Given the description of an element on the screen output the (x, y) to click on. 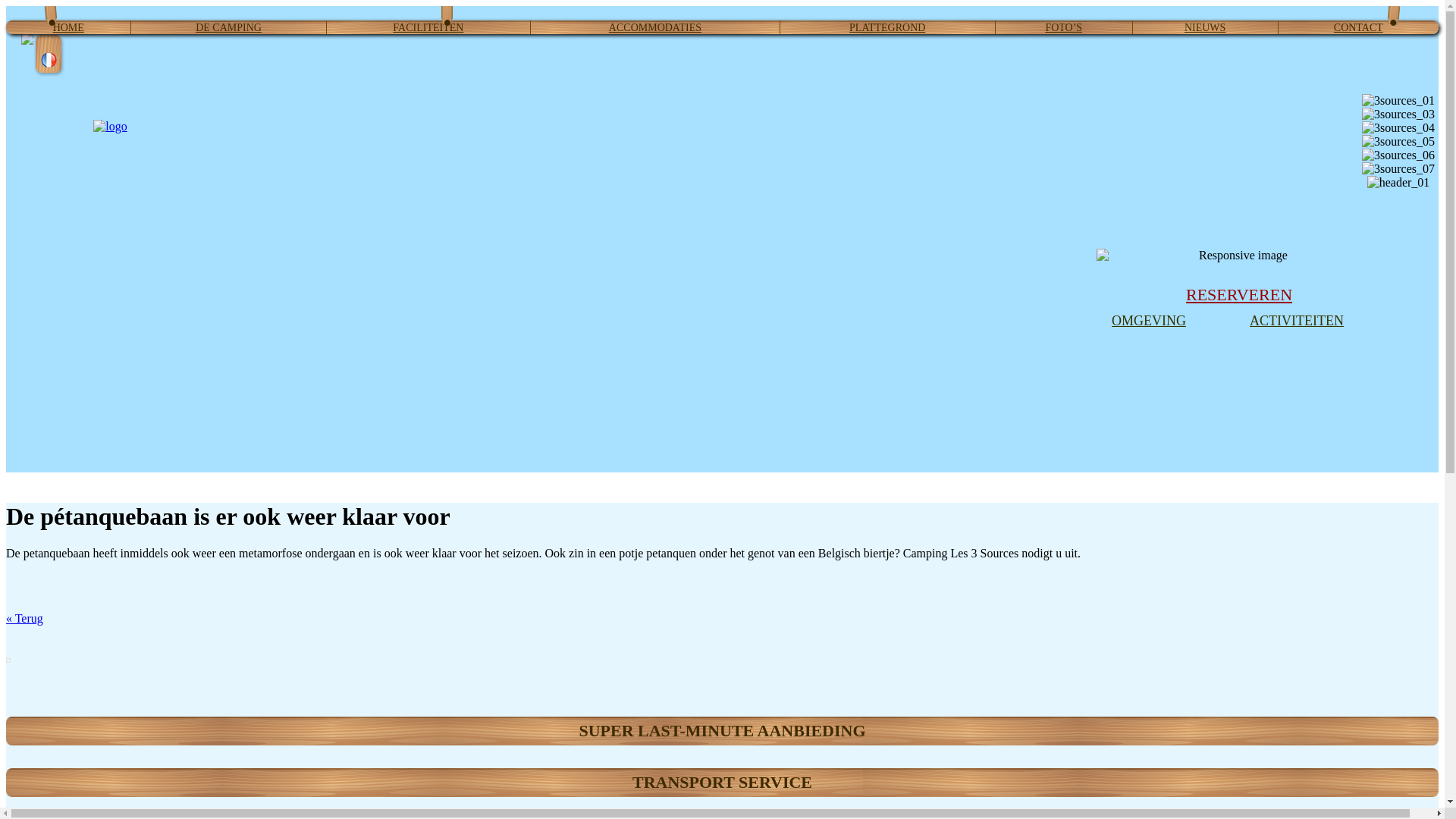
20150409_125525 Element type: hover (10, 661)
PLATTEGROND Element type: text (887, 27)
HOME Element type: text (68, 27)
ACTIVITEITEN Element type: text (1296, 320)
RESERVEREN Element type: text (1239, 294)
TRANSPORT SERVICE Element type: text (722, 781)
CONTACT Element type: text (1358, 27)
DE CAMPING Element type: text (228, 27)
NIEUWS Element type: text (1204, 27)
FACILITEITEN Element type: text (427, 27)
ACCOMMODATIES Element type: text (654, 27)
SUPER LAST-MINUTE AANBIEDING Element type: text (721, 730)
OMGEVING Element type: text (1148, 320)
